Given the description of an element on the screen output the (x, y) to click on. 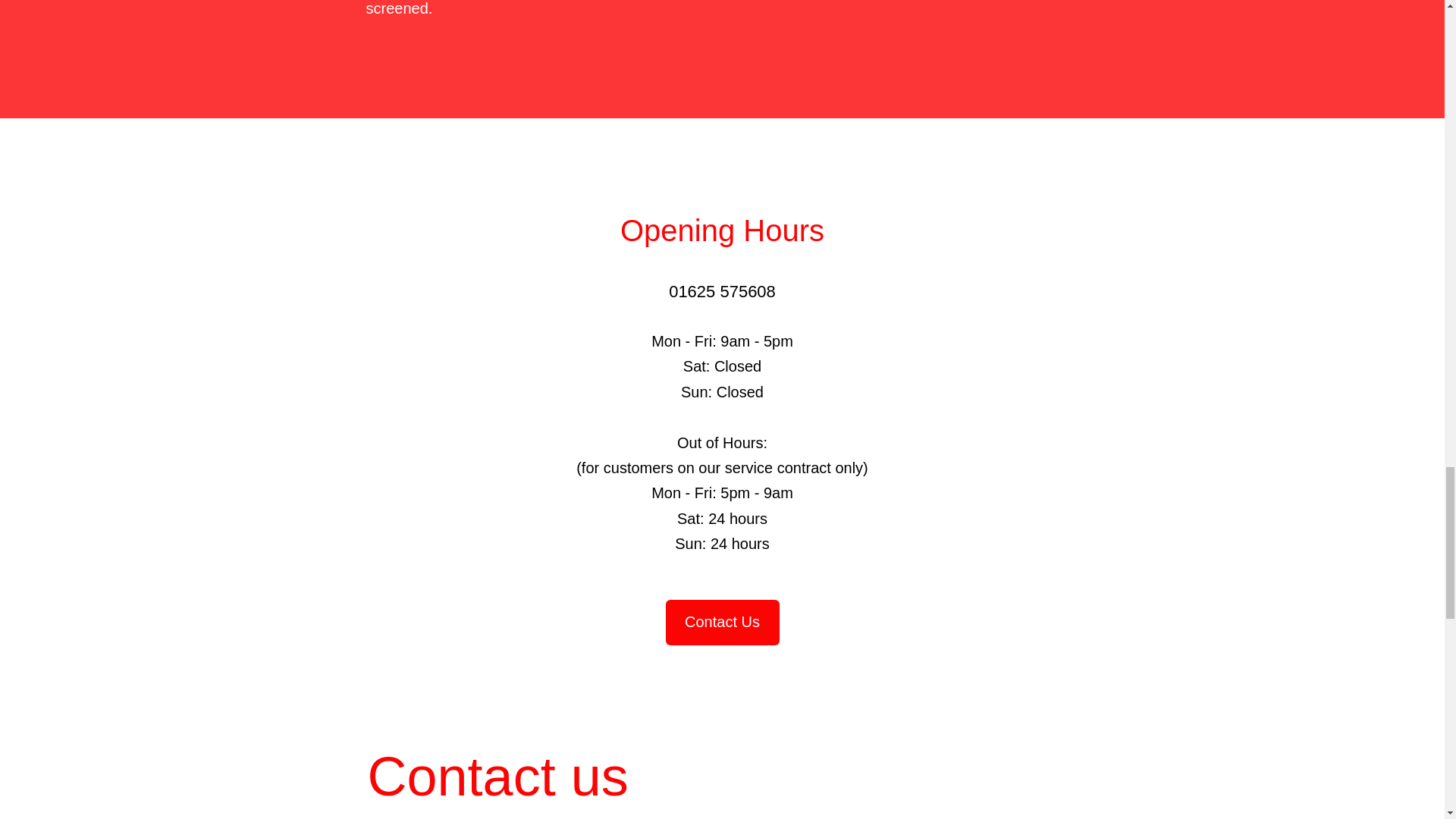
Contact Us (721, 622)
